Given the description of an element on the screen output the (x, y) to click on. 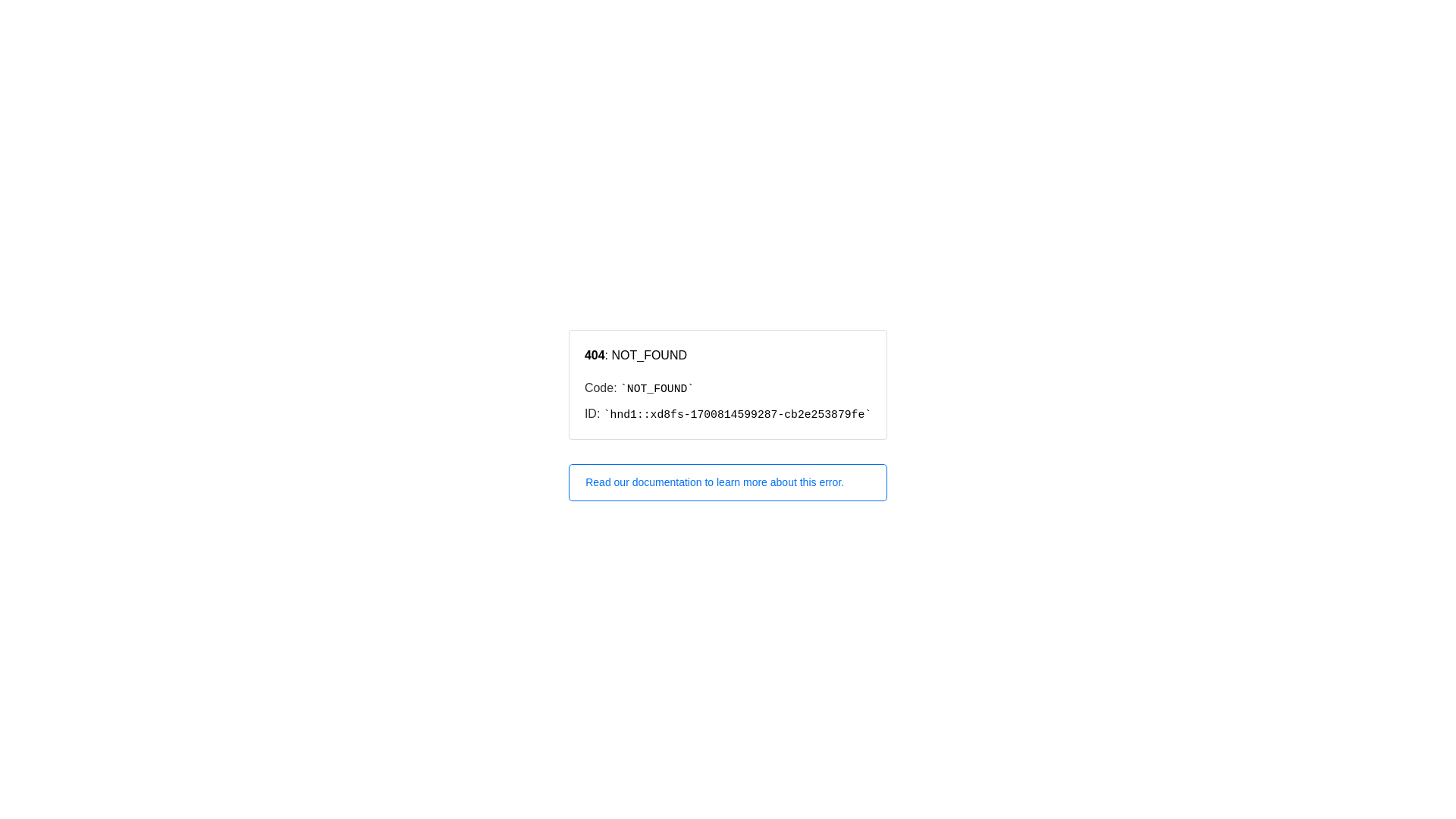
Read our documentation to learn more about this error. Element type: text (727, 482)
